Given the description of an element on the screen output the (x, y) to click on. 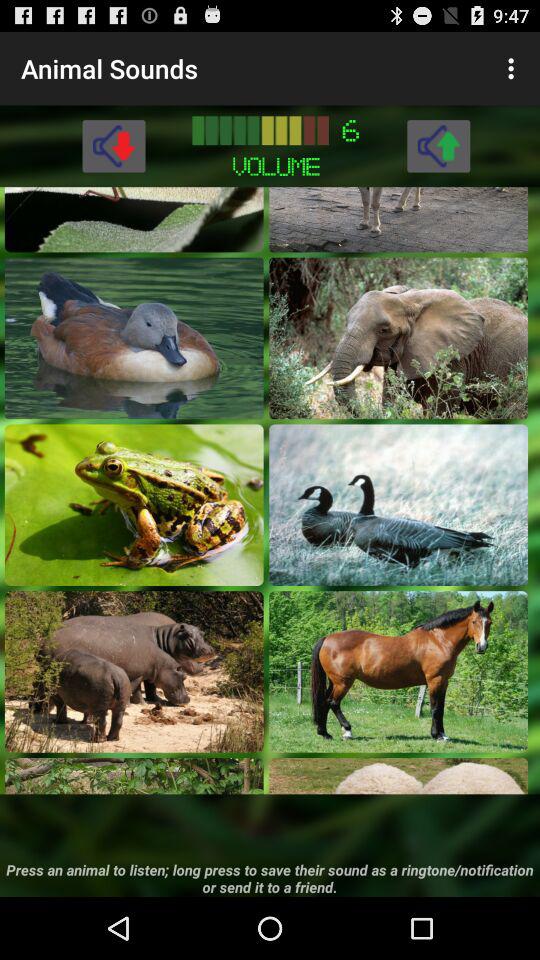
upvote button (438, 145)
